Given the description of an element on the screen output the (x, y) to click on. 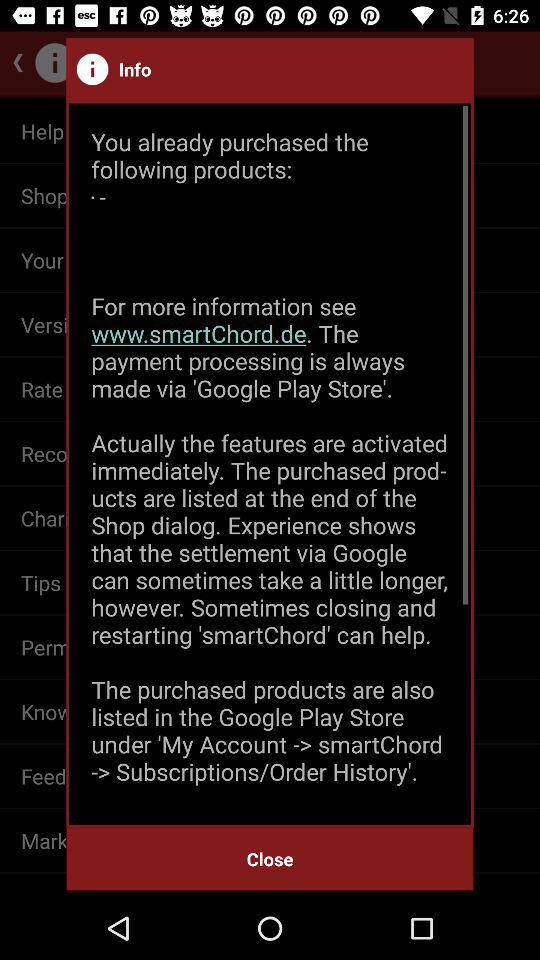
turn off close at the bottom (269, 858)
